Given the description of an element on the screen output the (x, y) to click on. 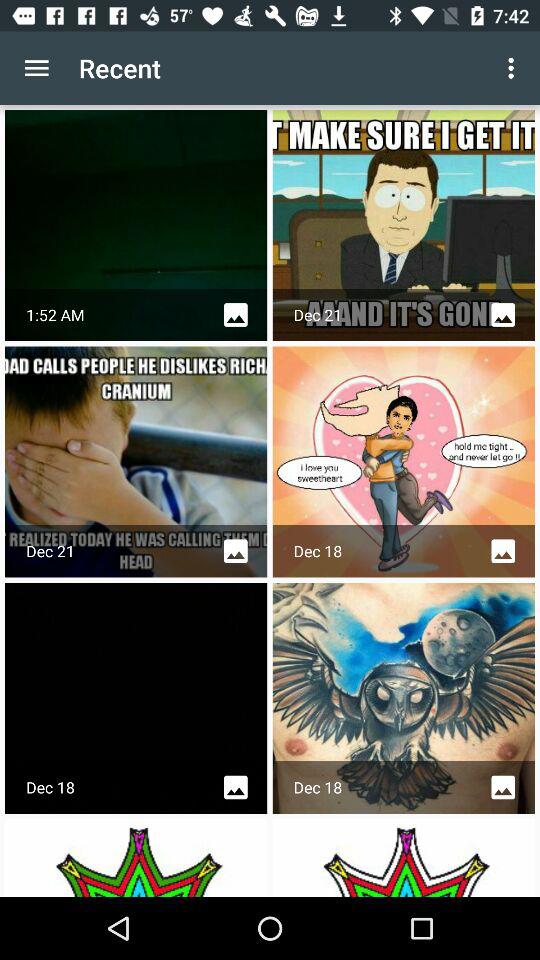
choose icon to the right of recent (513, 67)
